Given the description of an element on the screen output the (x, y) to click on. 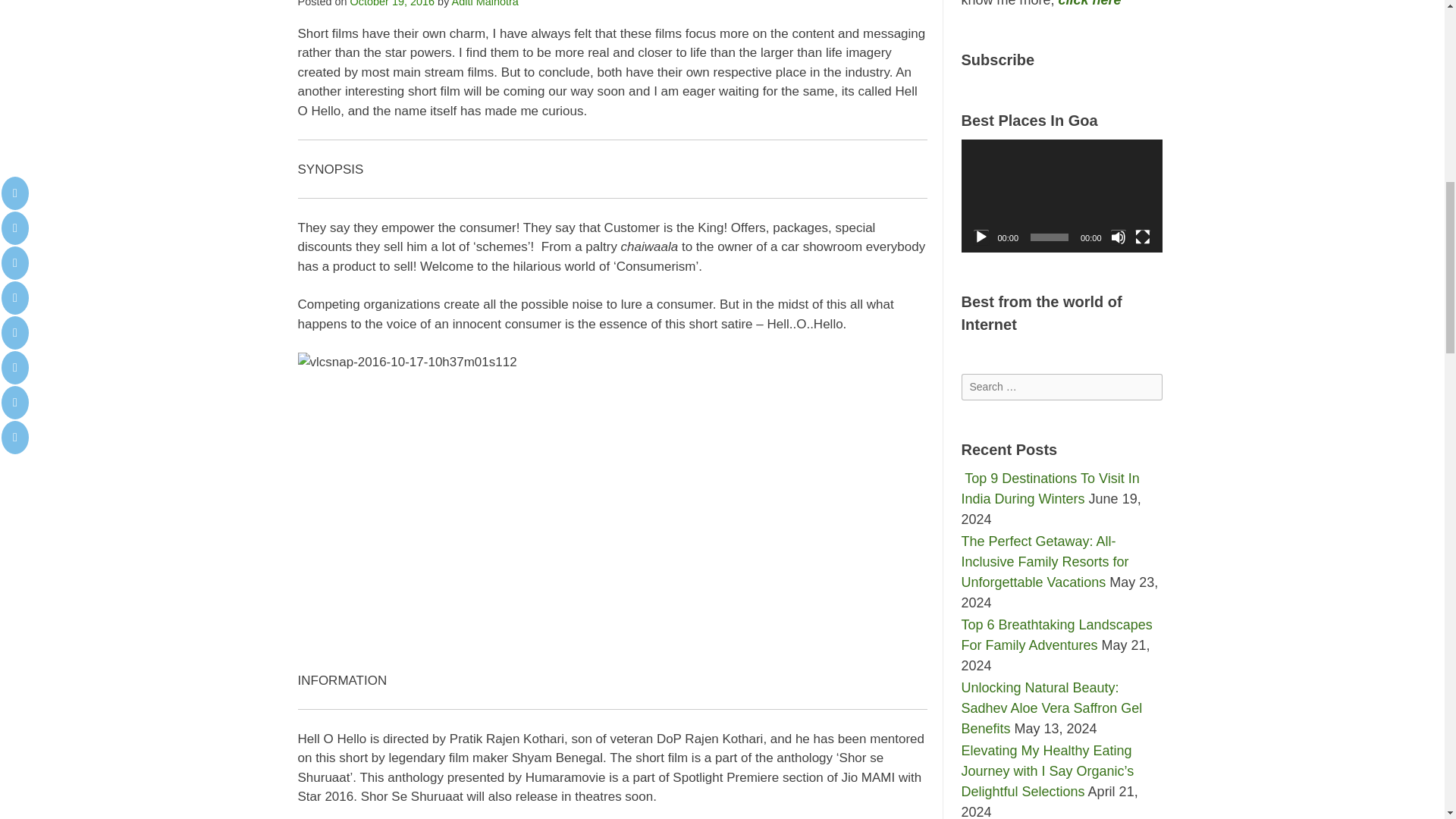
October 19, 2016 (392, 3)
Aditi Malhotra (484, 3)
